Given the description of an element on the screen output the (x, y) to click on. 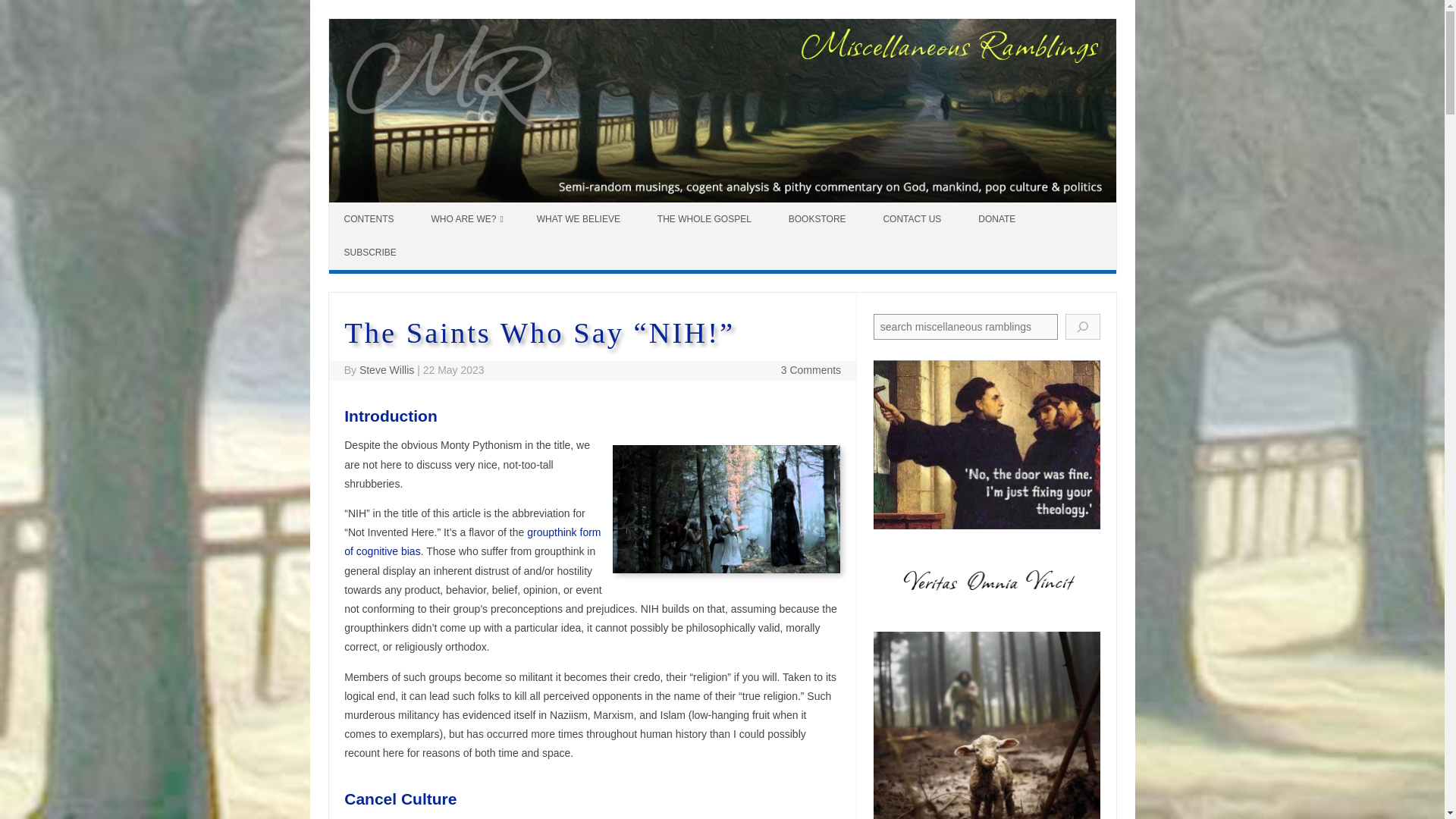
Posts by Steve Willis (386, 369)
Skip to content (363, 207)
CONTENTS (371, 218)
BOOKSTORE (818, 218)
groupthink form of cognitive bias (471, 541)
CONTACT US (913, 218)
THE WHOLE GOSPEL (706, 218)
WHAT WE BELIEVE (580, 218)
Miscellaneous Ramblings (722, 198)
3 Comments (810, 369)
